Given the description of an element on the screen output the (x, y) to click on. 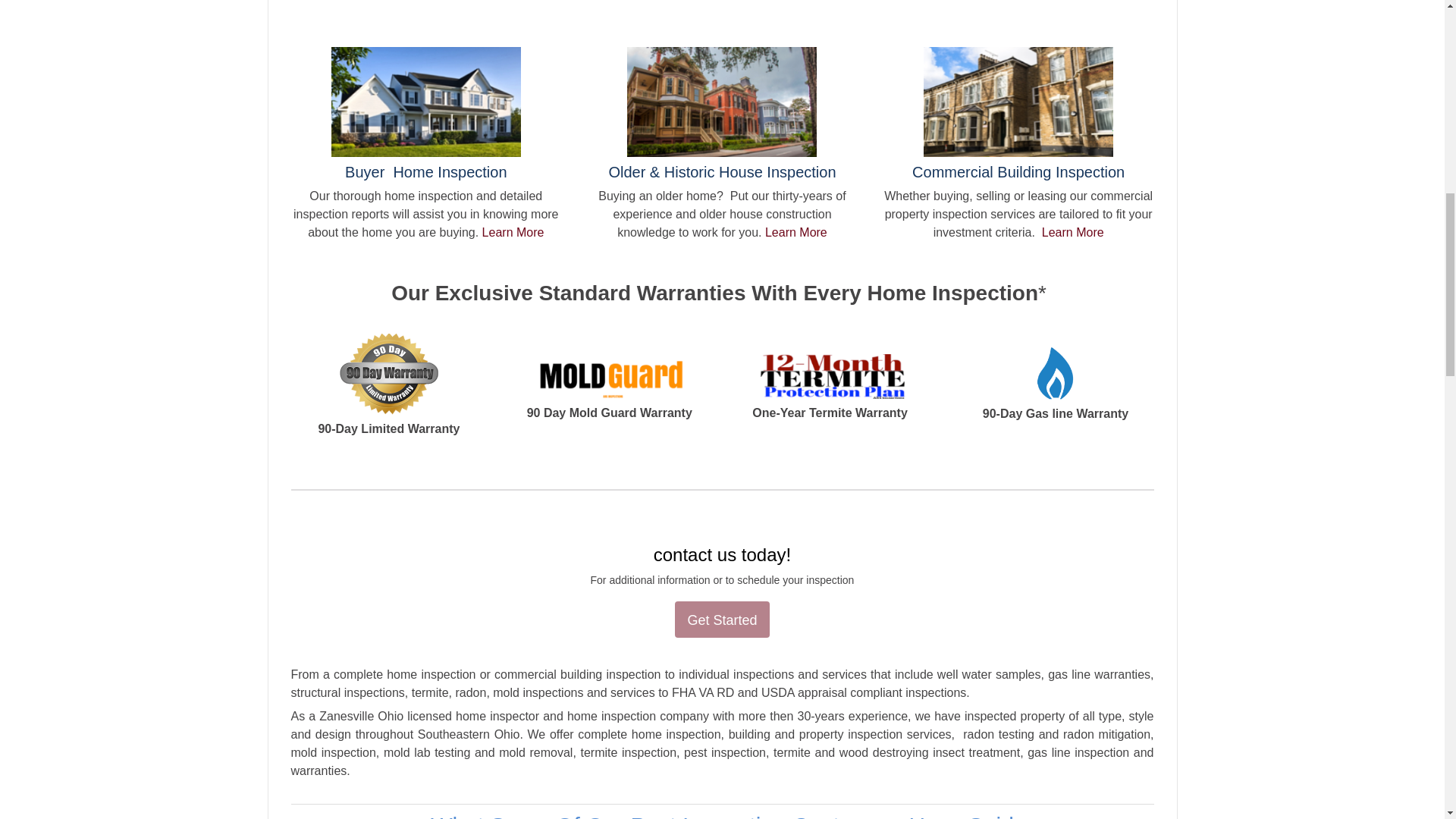
Buyer  Home Inspection (425, 170)
